Given the description of an element on the screen output the (x, y) to click on. 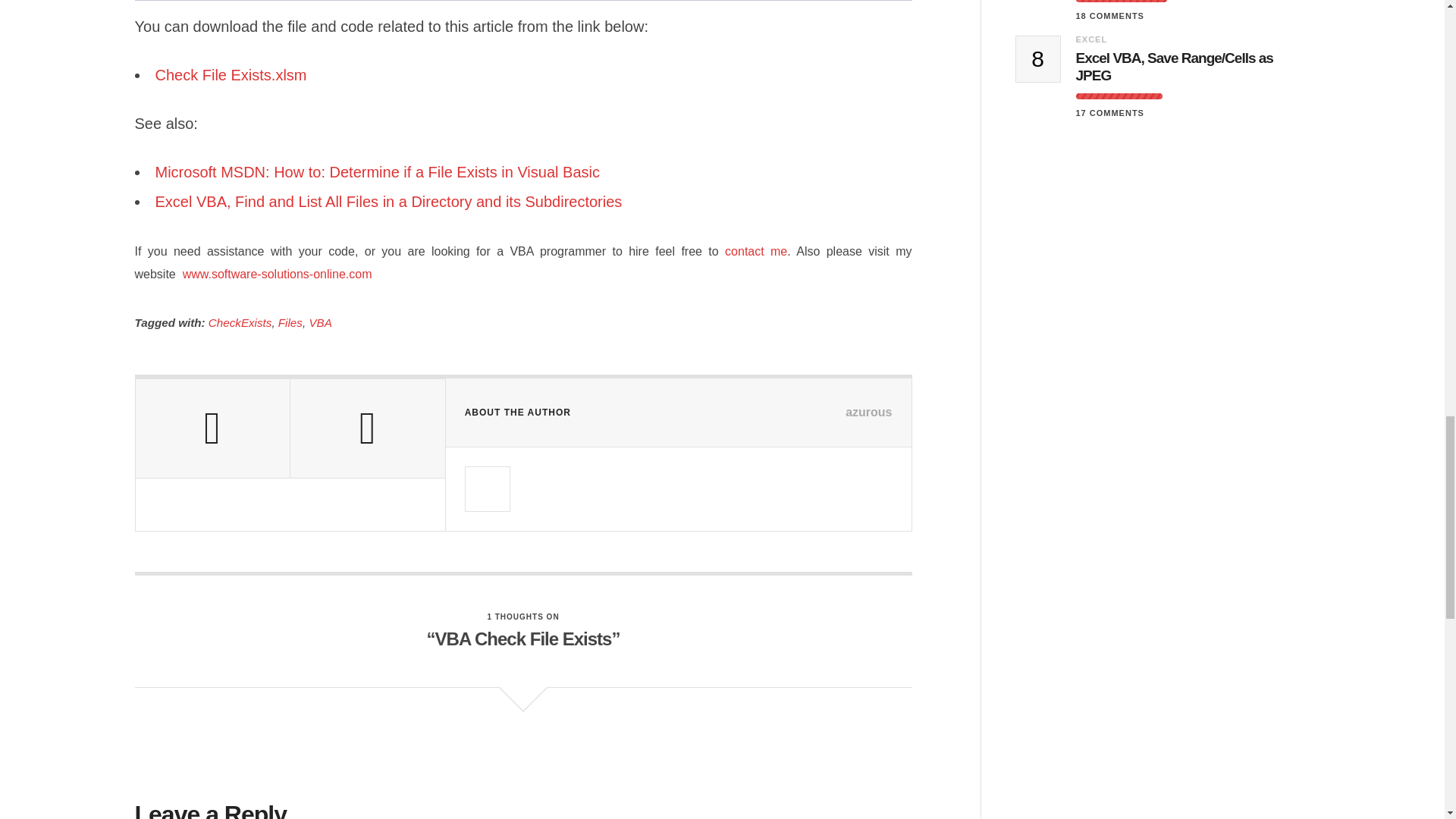
Files (290, 322)
VBA (319, 322)
 www.software-solutions-online.com (275, 273)
Next Post (367, 428)
contact me (756, 250)
CheckExists (240, 322)
Check File Exists.xlsm  (232, 74)
Previous Post (212, 428)
contact me (756, 250)
VBA Programming Service (275, 273)
